Given the description of an element on the screen output the (x, y) to click on. 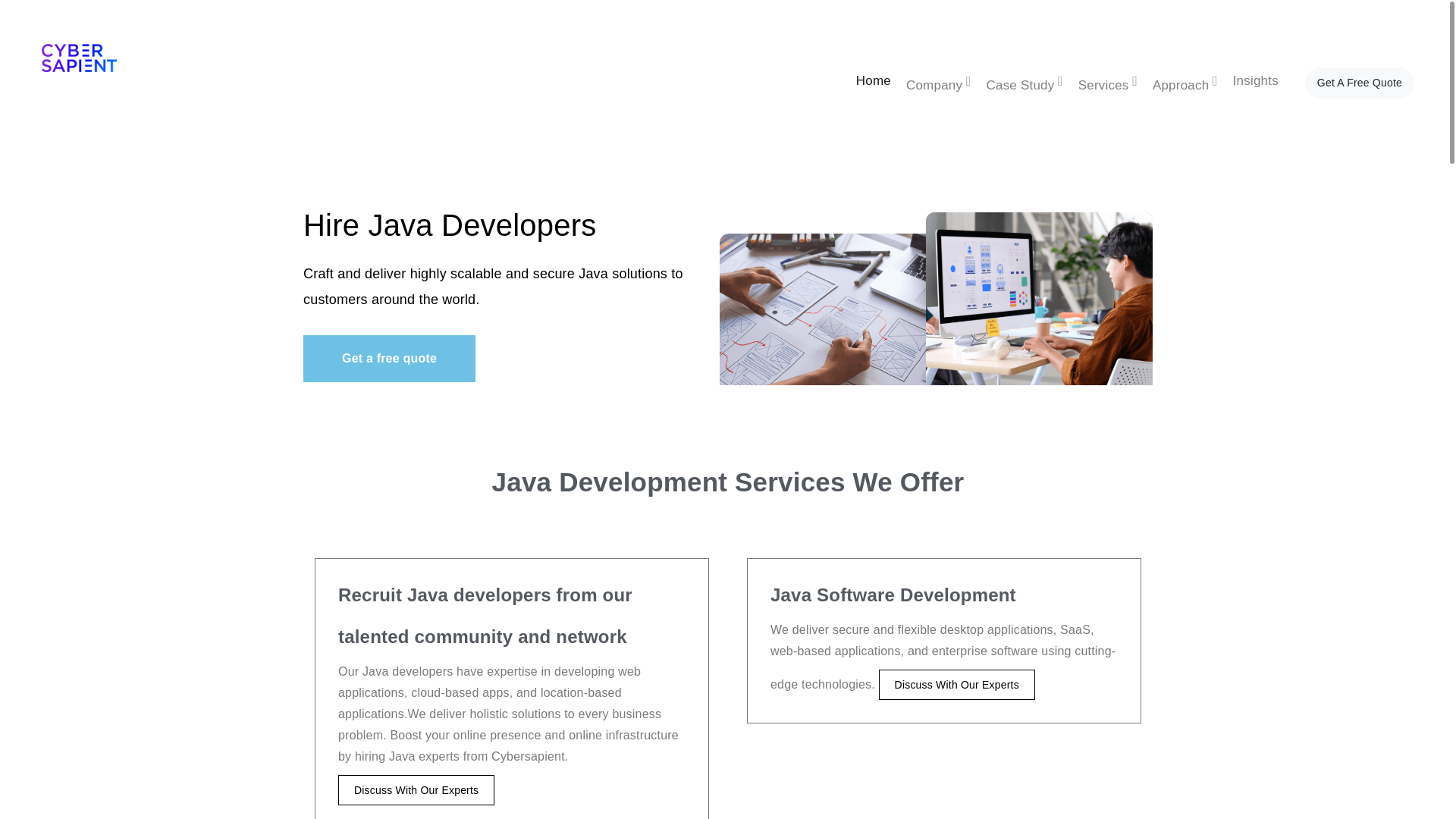
Services (1107, 83)
Case Study (1024, 83)
Company (938, 83)
